Given the description of an element on the screen output the (x, y) to click on. 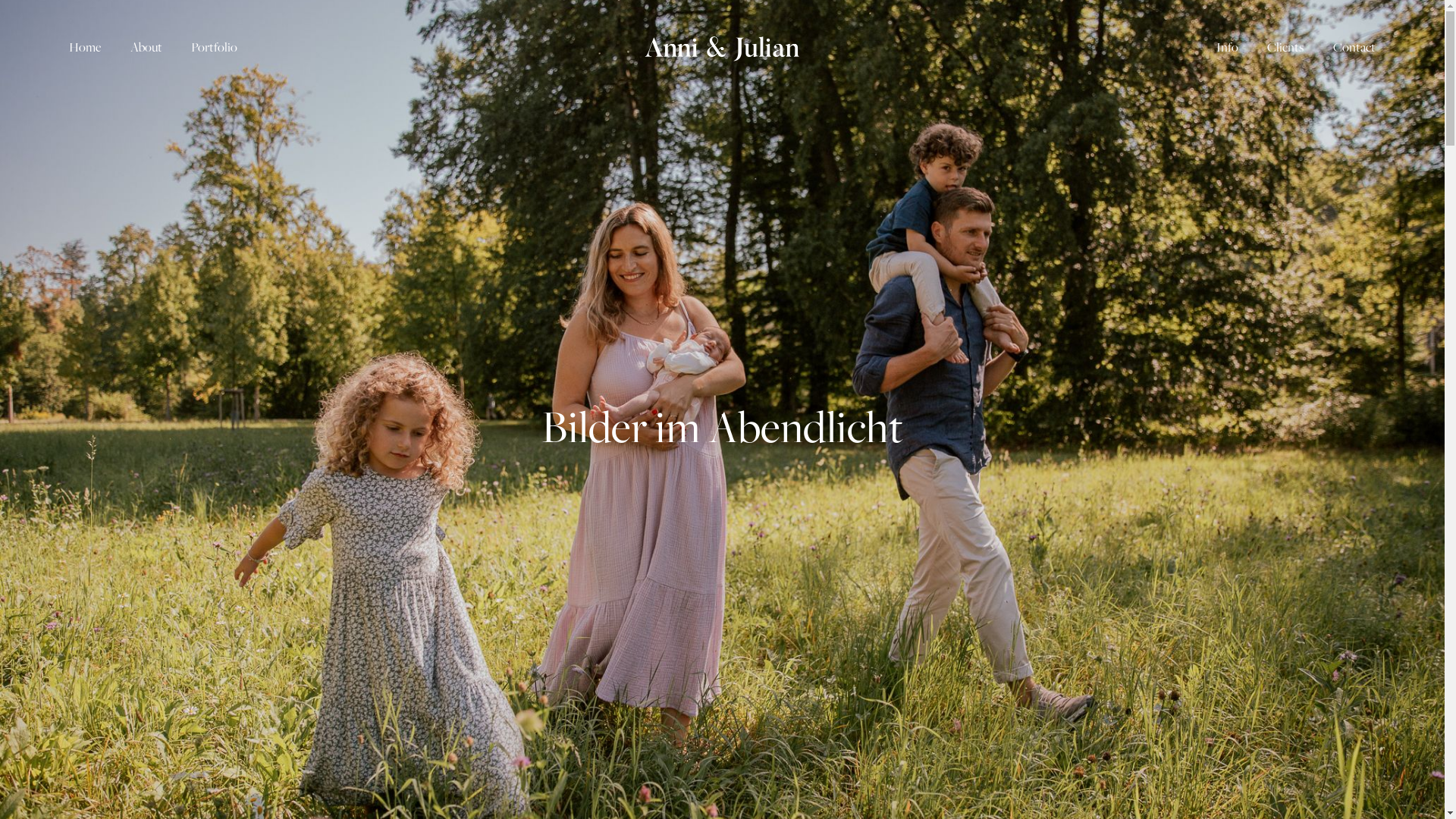
Contact Element type: text (1354, 47)
Clients Element type: text (1284, 47)
Info Element type: text (1226, 47)
About Element type: text (145, 47)
Portfolio Element type: text (213, 47)
Home Element type: text (84, 47)
